Given the description of an element on the screen output the (x, y) to click on. 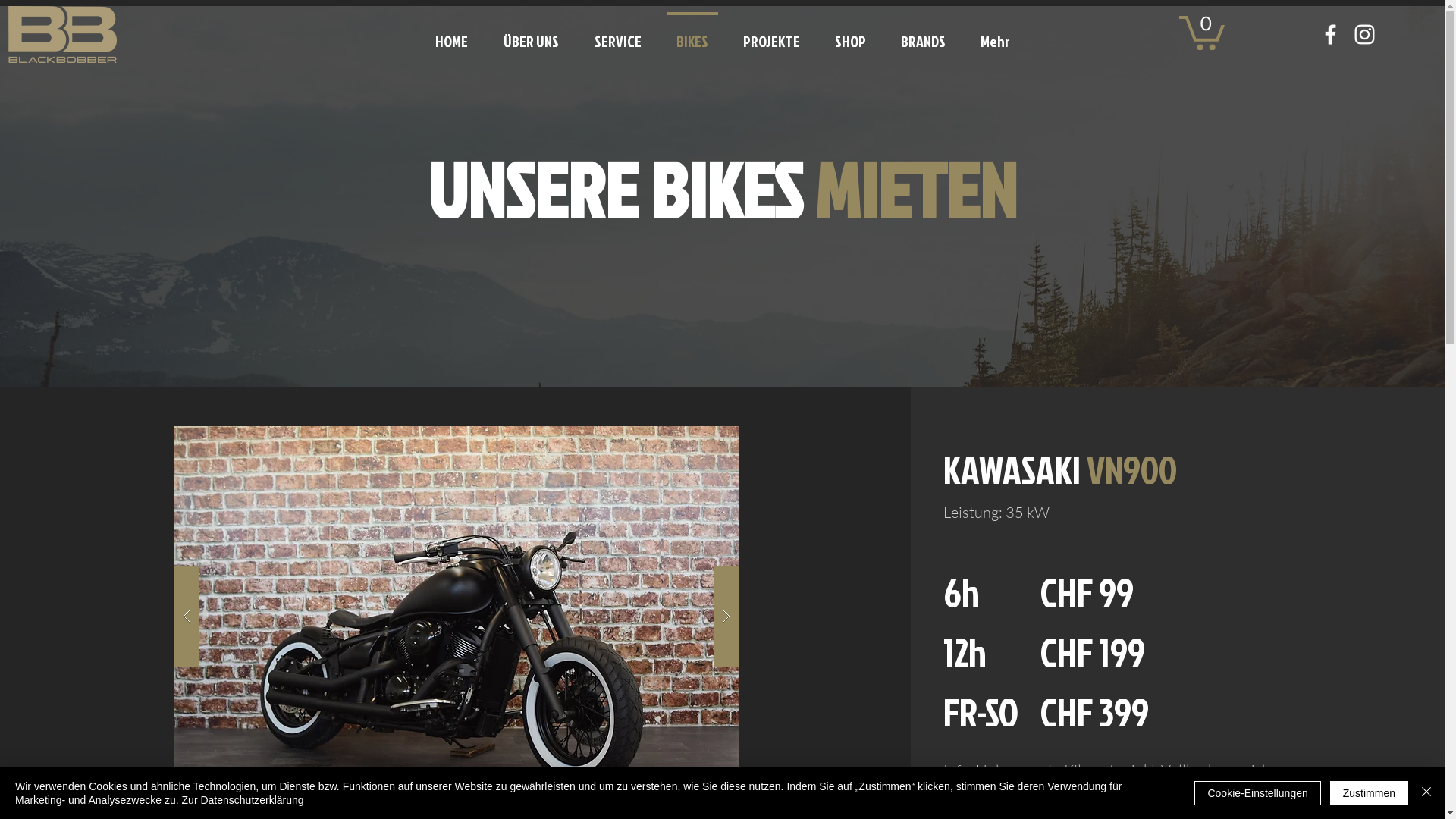
HOME Element type: text (451, 34)
SERVICE Element type: text (617, 34)
Cookie-Einstellungen Element type: text (1257, 793)
BRANDS Element type: text (923, 34)
SHOP Element type: text (850, 34)
PROJEKTE Element type: text (771, 34)
Zustimmen Element type: text (1369, 793)
0 Element type: text (1201, 31)
BIKES Element type: text (691, 34)
